Given the description of an element on the screen output the (x, y) to click on. 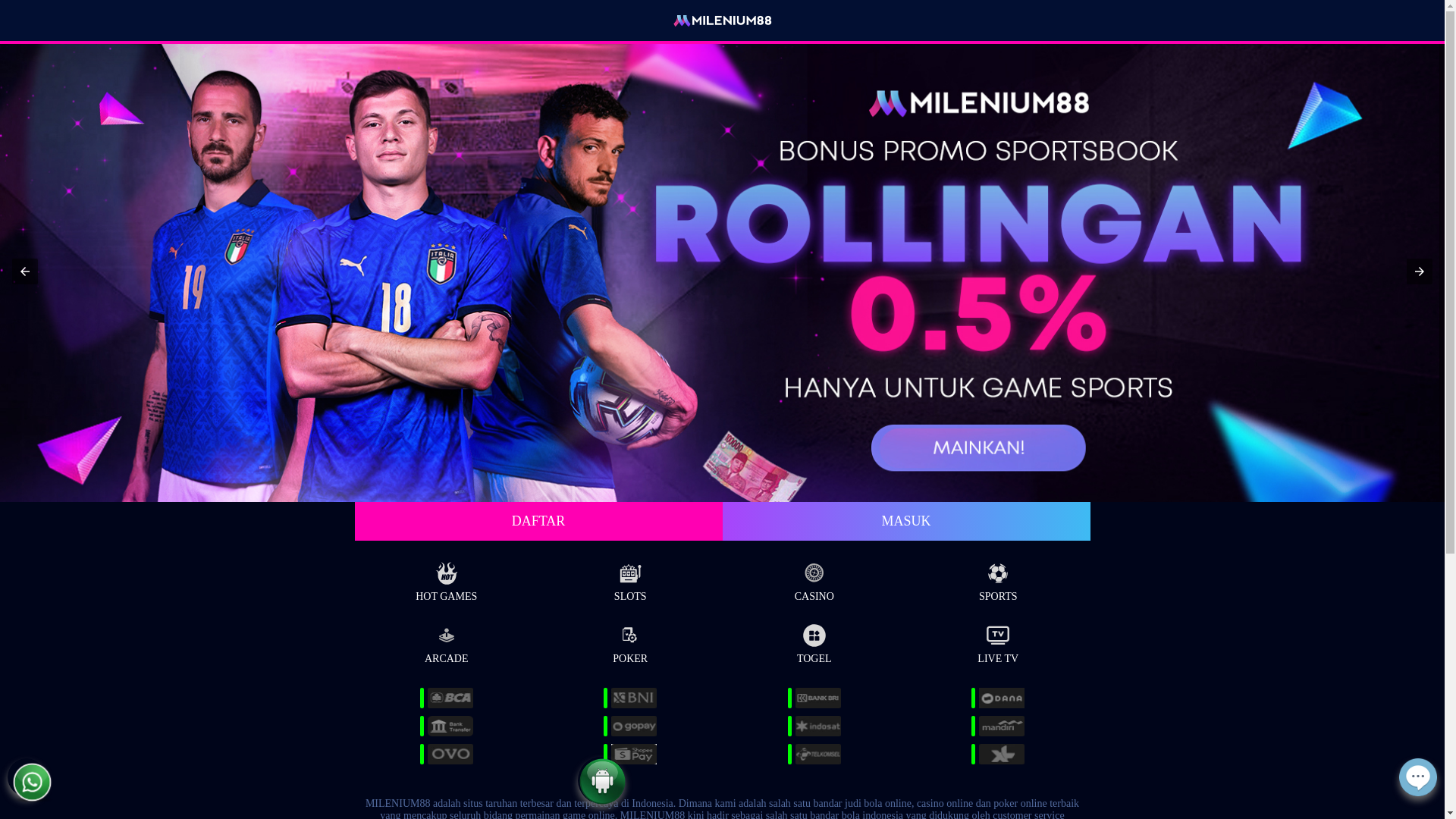
ARCADE Element type: text (445, 641)
LIVE TV Element type: text (998, 641)
TOGEL Element type: text (814, 641)
SPORTS Element type: text (998, 579)
HOT GAMES Element type: text (445, 579)
Previous item in carousel (1 of 3) Element type: hover (24, 271)
Download APK Element type: hover (602, 796)
MASUK Element type: text (905, 521)
SLOTS Element type: text (630, 579)
POKER Element type: text (630, 641)
CASINO Element type: text (814, 579)
Live Chat Element type: hover (1418, 786)
Next item in carousel (3 of 3) Element type: hover (1419, 271)
DAFTAR Element type: text (538, 521)
